Given the description of an element on the screen output the (x, y) to click on. 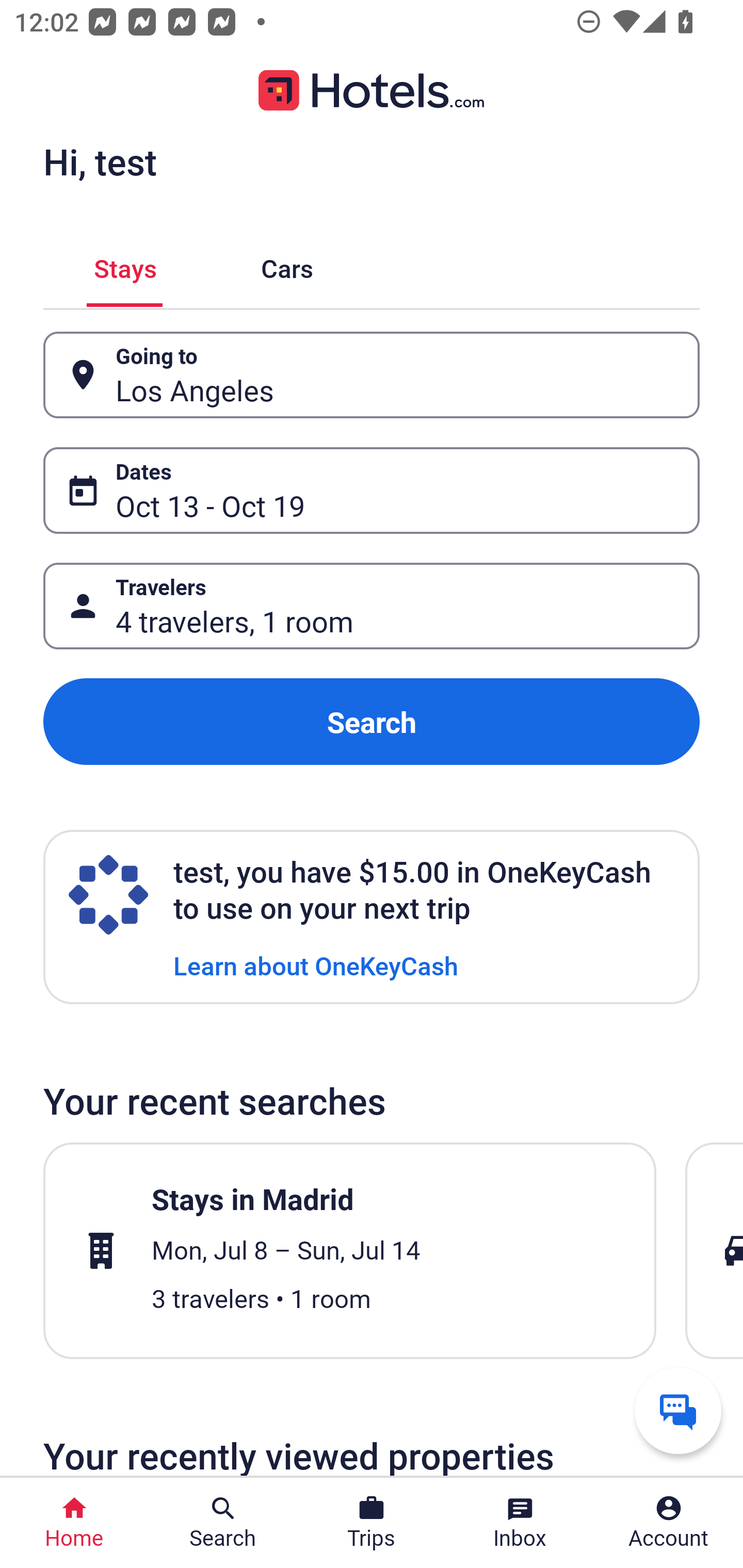
Hi, test (99, 161)
Cars (286, 265)
Going to Button Los Angeles (371, 375)
Dates Button Oct 13 - Oct 19 (371, 489)
Travelers Button 4 travelers, 1 room (371, 605)
Search (371, 721)
Learn about OneKeyCash Learn about OneKeyCash Link (315, 964)
Get help from a virtual agent (677, 1410)
Search Search Button (222, 1522)
Trips Trips Button (371, 1522)
Inbox Inbox Button (519, 1522)
Account Profile. Button (668, 1522)
